Given the description of an element on the screen output the (x, y) to click on. 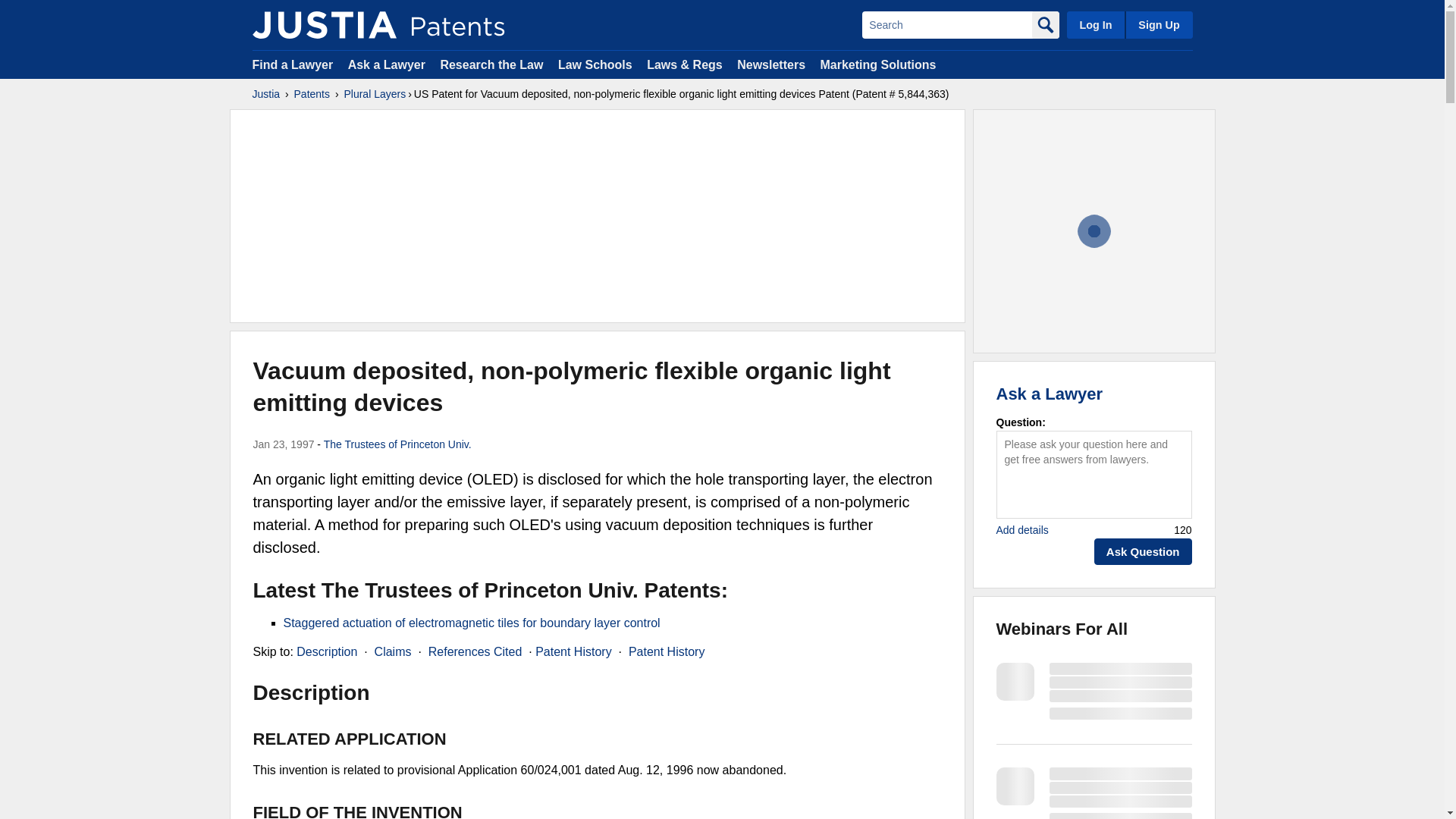
Ask a Lawyer (386, 64)
References Cited (475, 651)
Plural Layers (374, 93)
Sign Up (1158, 24)
Newsletters (770, 64)
Claims (393, 651)
Law Schools (594, 64)
Marketing Solutions (877, 64)
Patents (312, 93)
